Given the description of an element on the screen output the (x, y) to click on. 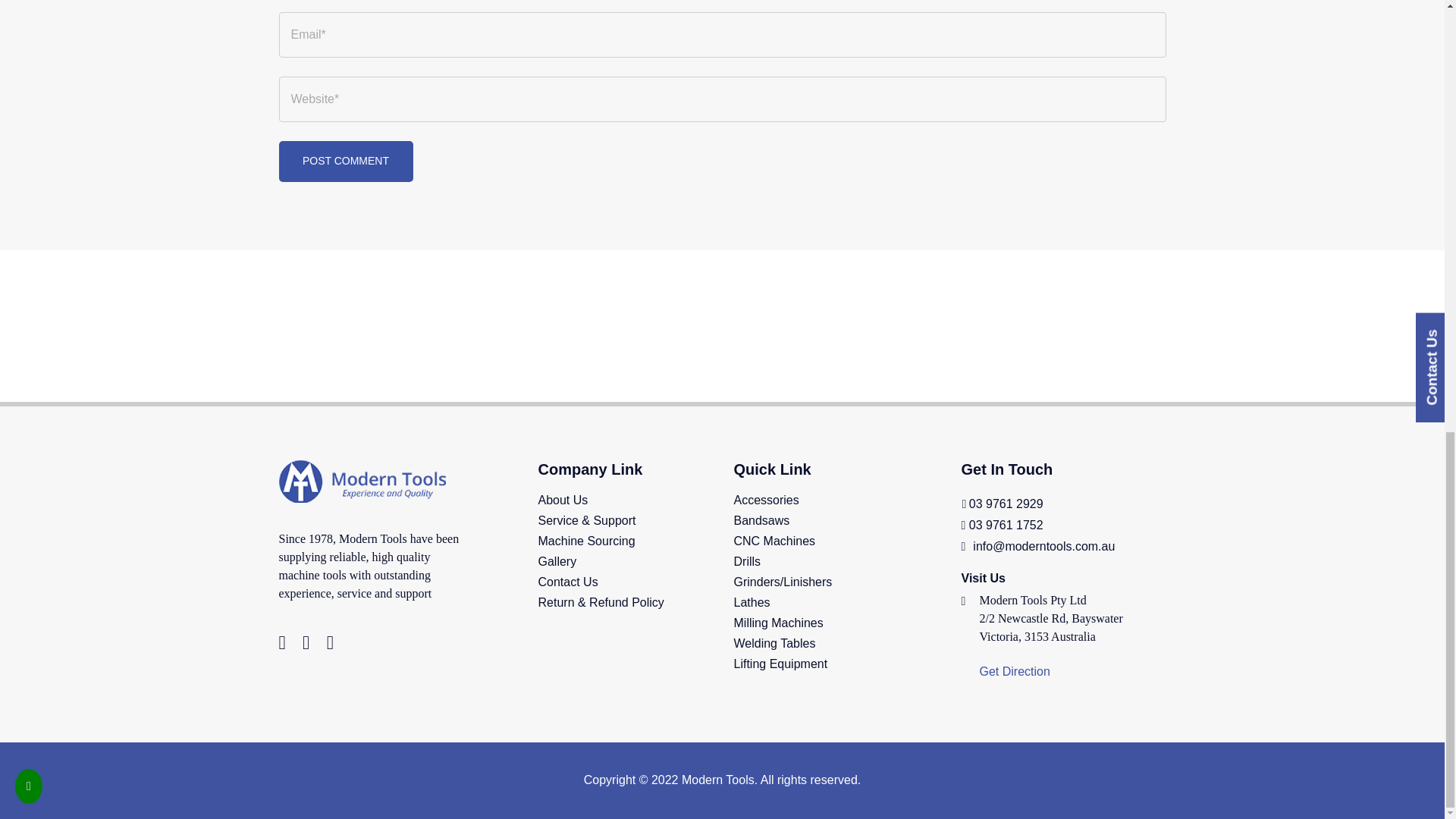
Post Comment (346, 160)
Post Comment (346, 160)
